Given the description of an element on the screen output the (x, y) to click on. 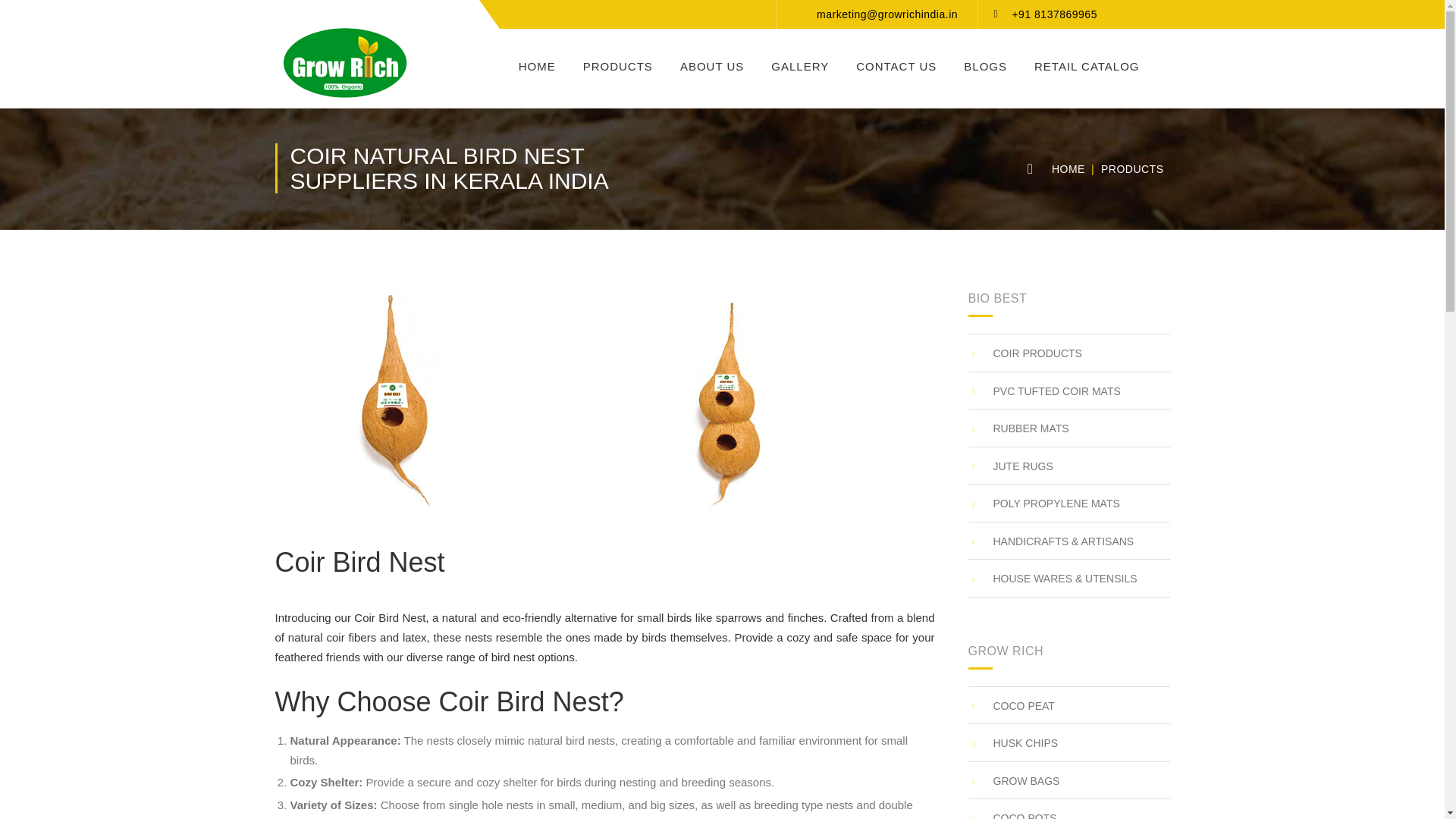
PRODUCTS (618, 59)
HUSK CHIPS (1013, 742)
CONTACT US (896, 59)
COCO PEAT (1011, 705)
POLY PROPYLENE MATS (1043, 503)
COIR PRODUCTS (1024, 353)
COCO POTS (1012, 814)
JUTE RUGS (1010, 466)
PVC TUFTED COIR MATS (1043, 391)
GROW BAGS (1013, 781)
HOME (1067, 169)
RETAIL CATALOG (1086, 59)
GALLERY (799, 59)
RUBBER MATS (1018, 428)
ABOUT US (712, 59)
